Given the description of an element on the screen output the (x, y) to click on. 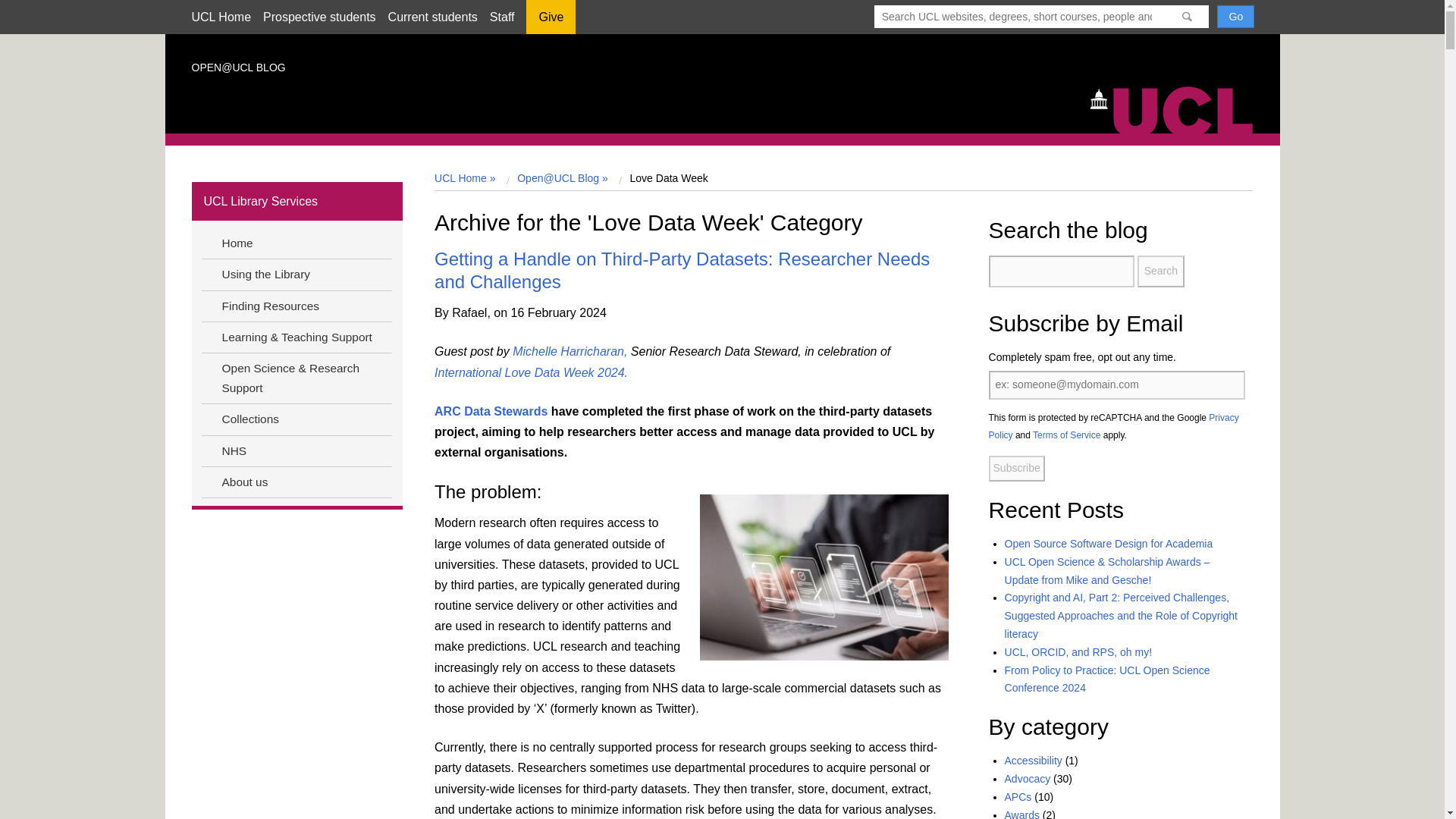
Michelle Harricharan, (571, 350)
NHS (296, 451)
Go (1235, 15)
Search (1161, 271)
Give (550, 22)
Current students (432, 16)
Using the Library (296, 274)
Home (1178, 108)
